Given the description of an element on the screen output the (x, y) to click on. 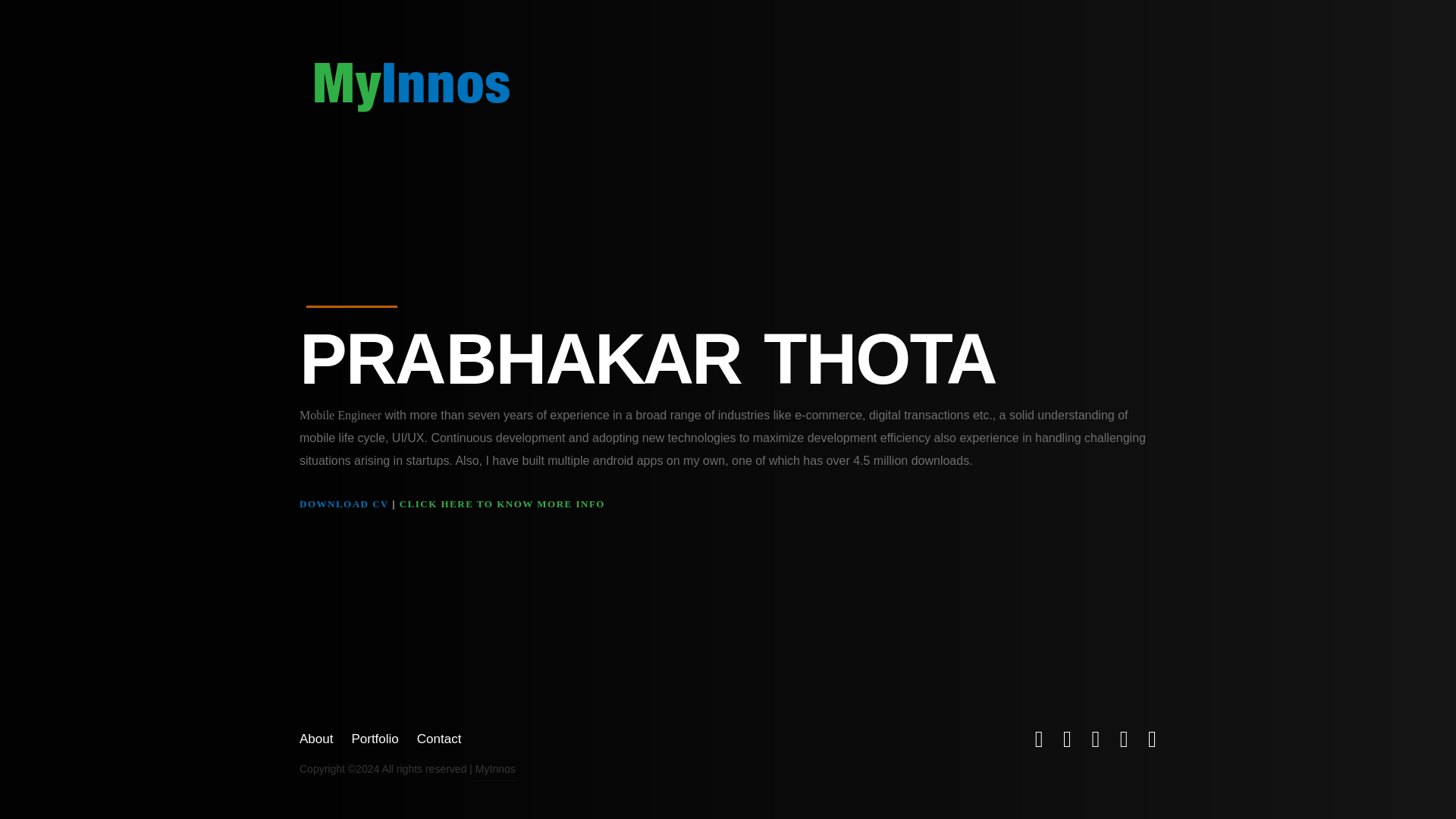
About (316, 739)
DOWNLOAD CV (343, 503)
Angel (1123, 738)
LinkedIn (1152, 738)
Reddit (1066, 738)
Portfolio (373, 739)
Github (1039, 738)
GooglePlay (1094, 738)
MyInnos (495, 769)
MyInnos (411, 85)
Contact (438, 739)
CLICK HERE TO KNOW MORE INFO (501, 503)
